Given the description of an element on the screen output the (x, y) to click on. 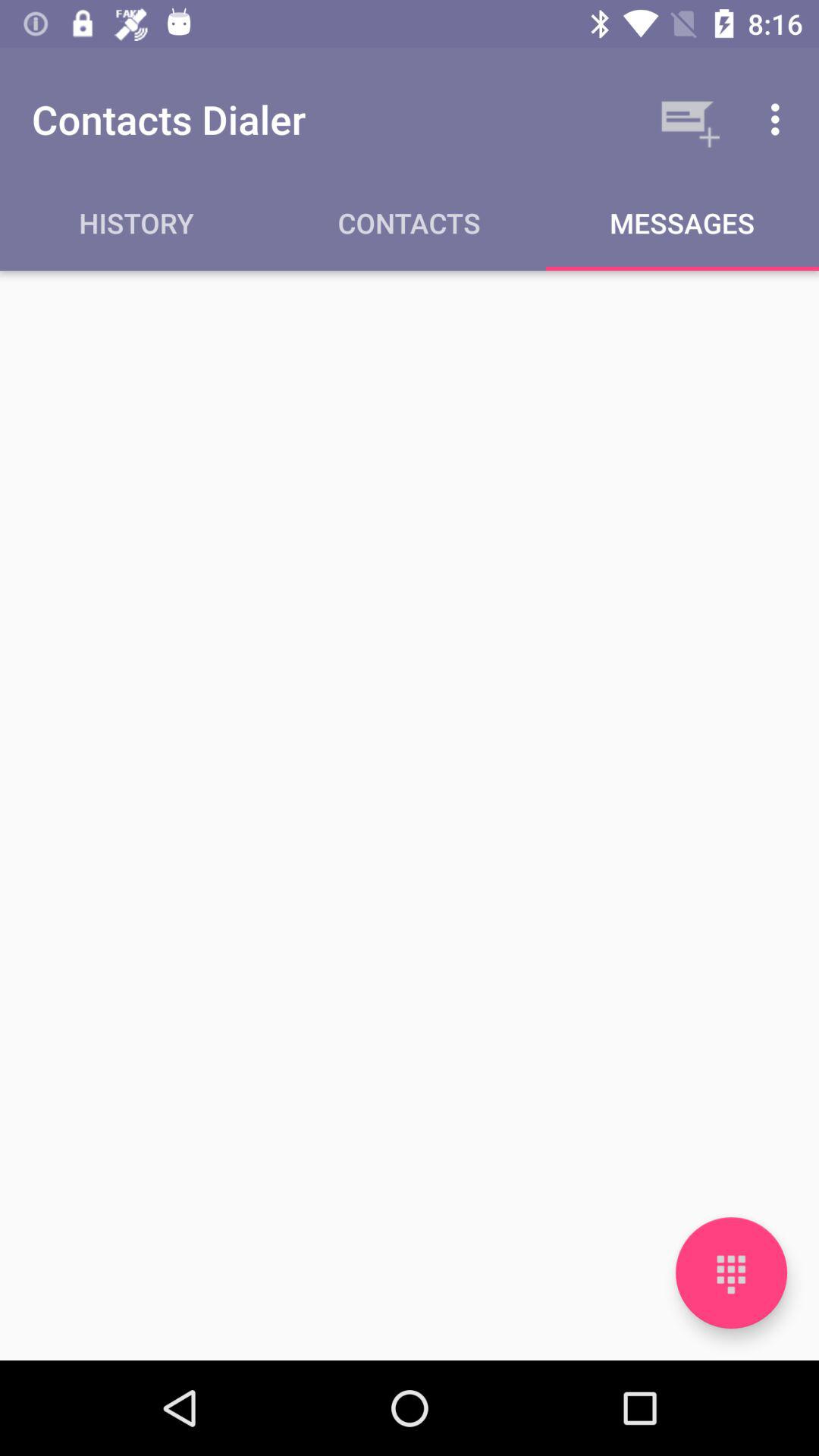
click item below the history icon (409, 815)
